Given the description of an element on the screen output the (x, y) to click on. 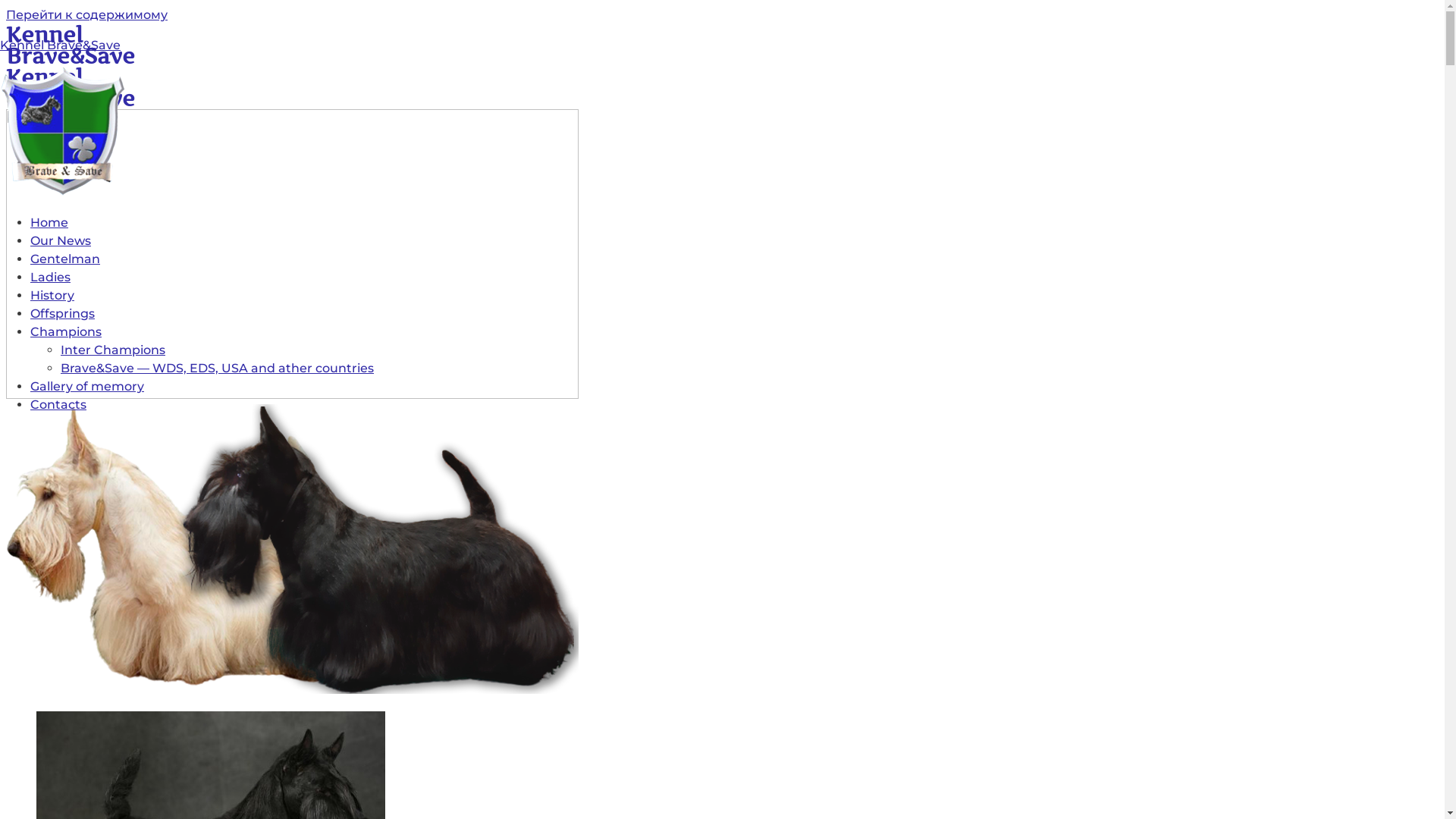
Kennel Brave&Save Element type: text (60, 44)
History Element type: text (52, 295)
Gallery of memory Element type: text (87, 386)
Gentelman Element type: text (65, 258)
Our News Element type: text (60, 240)
Home Element type: text (49, 222)
Contacts Element type: text (58, 404)
Inter Champions Element type: text (112, 349)
Offsprings Element type: text (62, 313)
Champions Element type: text (65, 331)
Ladies Element type: text (50, 276)
